Given the description of an element on the screen output the (x, y) to click on. 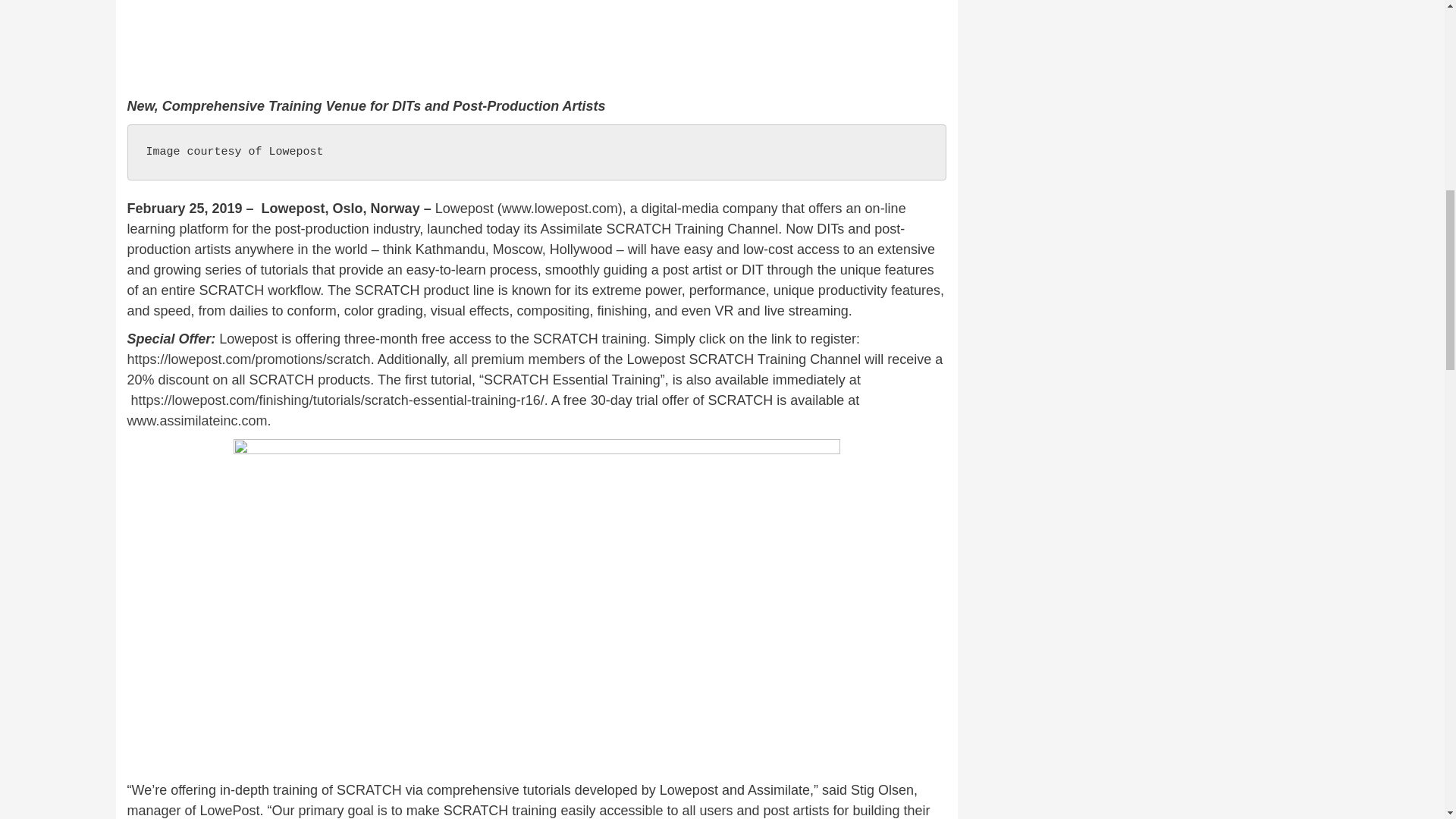
www.assimilateinc.com (197, 420)
